Given the description of an element on the screen output the (x, y) to click on. 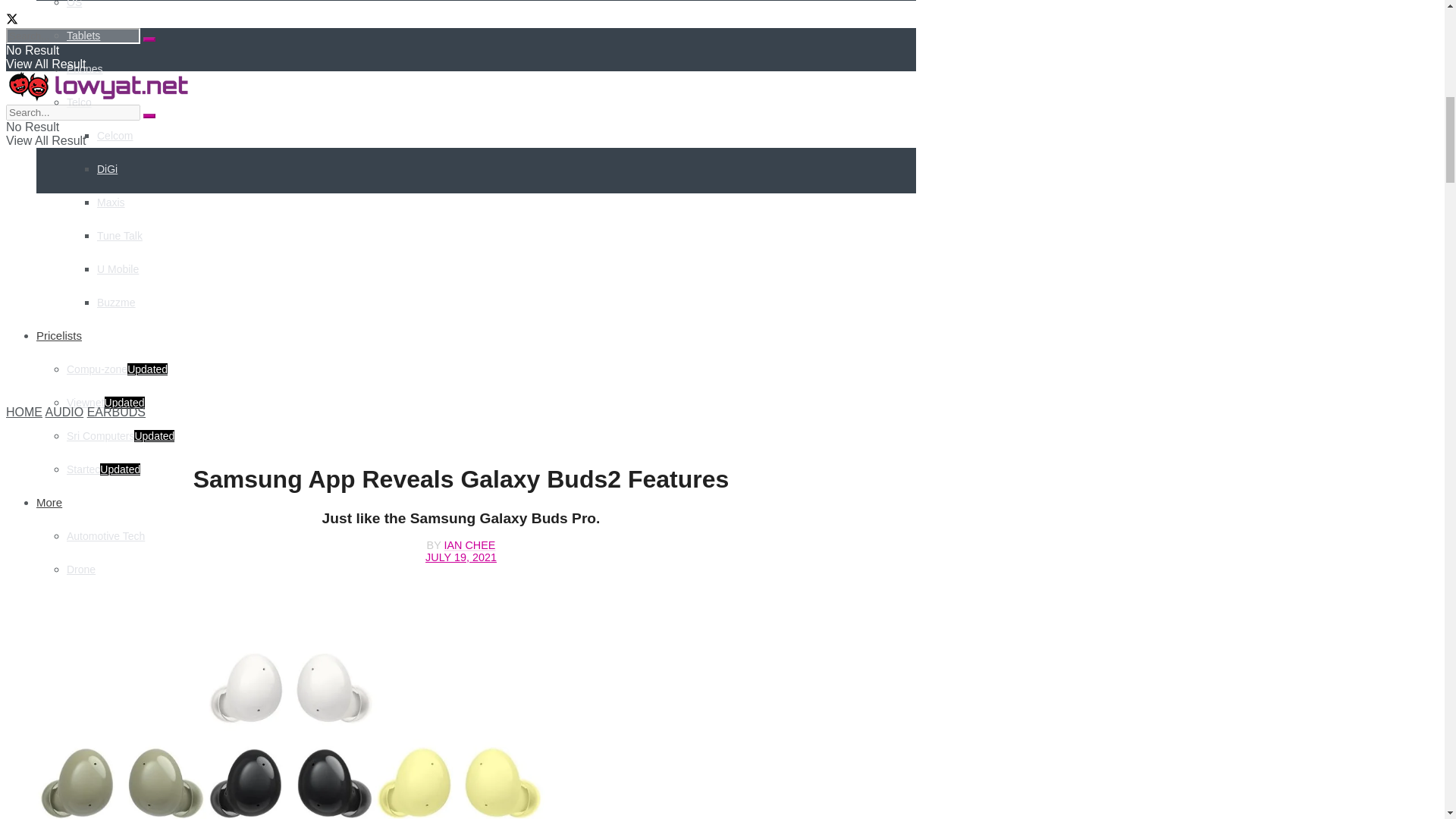
Celcom (114, 135)
Telco (78, 102)
Maxis (111, 202)
Phones (83, 69)
Tune Talk (119, 235)
OS (73, 4)
Tablets (83, 35)
Samsung App Reveals Galaxy Buds2 Features 1 (290, 706)
DiGi (107, 168)
